Given the description of an element on the screen output the (x, y) to click on. 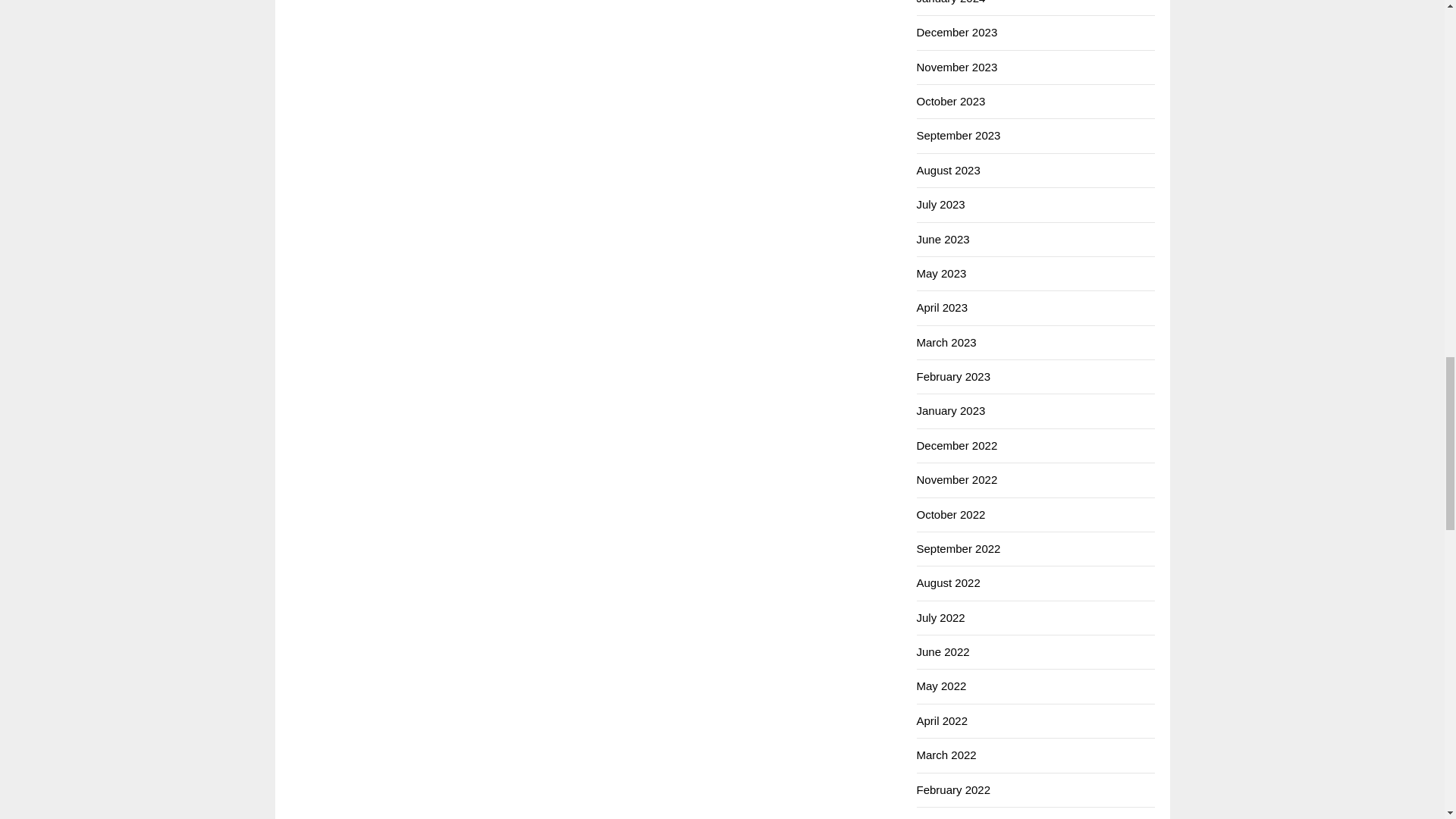
November 2023 (956, 66)
August 2023 (947, 169)
January 2024 (950, 2)
June 2023 (942, 238)
September 2023 (957, 134)
July 2023 (939, 204)
October 2023 (950, 101)
December 2023 (956, 31)
